Given the description of an element on the screen output the (x, y) to click on. 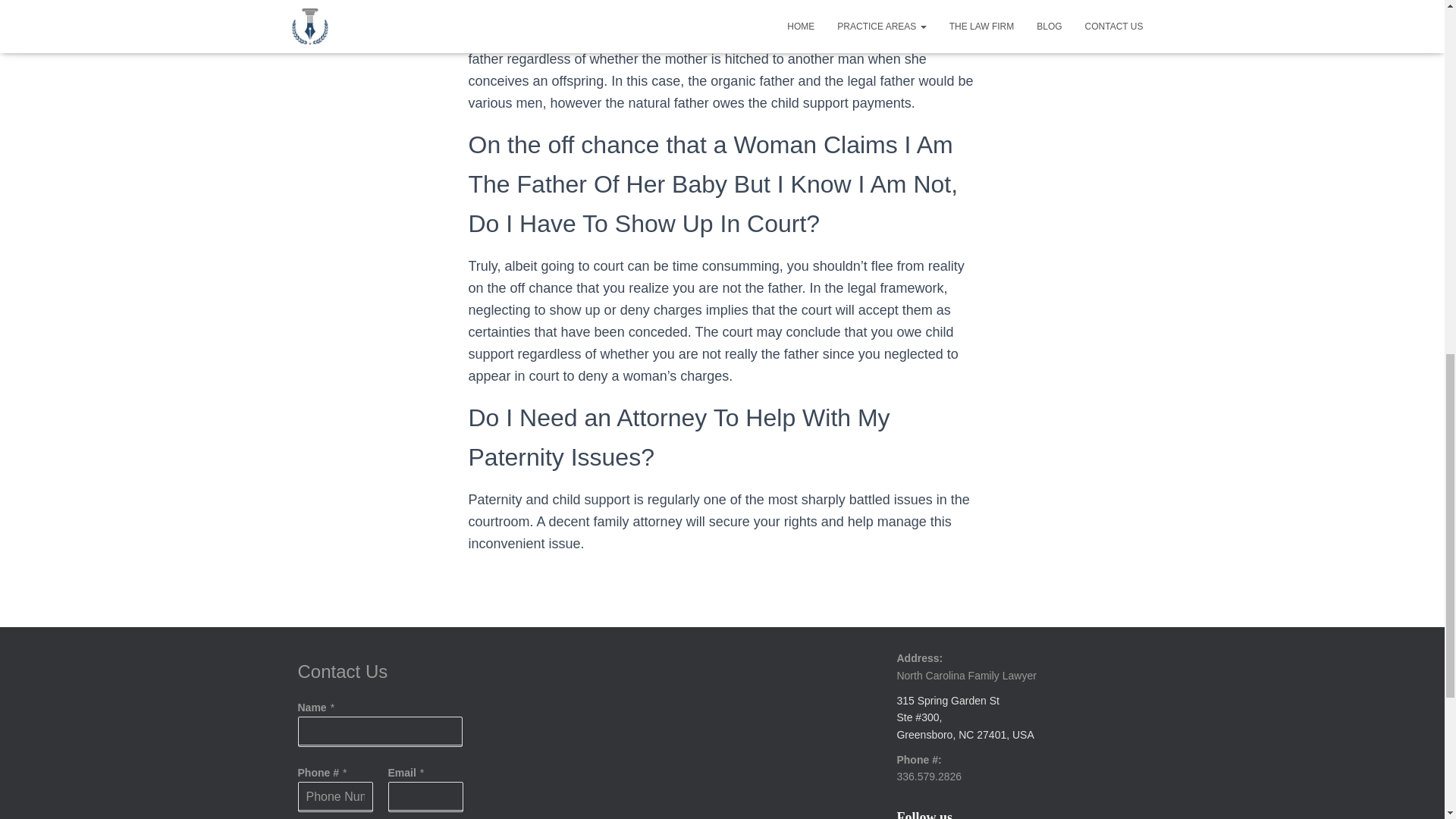
315 Spring Garden St (947, 700)
Greensboro, NC 27401, USA (964, 734)
Phone Number (334, 797)
